Given the description of an element on the screen output the (x, y) to click on. 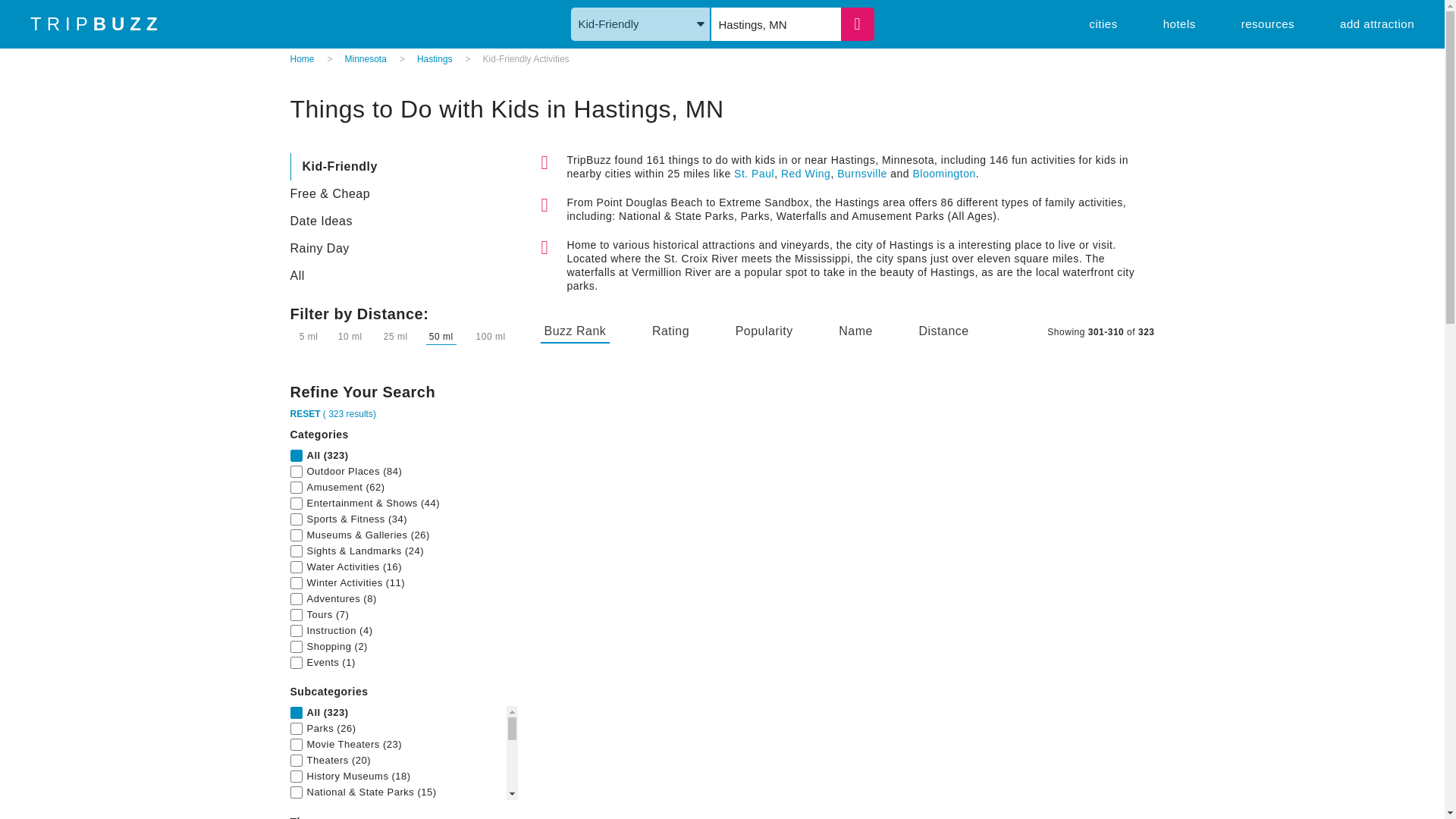
Hastings, MN (776, 23)
RESET (304, 413)
Name (855, 332)
Red Wing (804, 173)
Resources (1267, 23)
TRIPBUZZ (96, 24)
Hastings (434, 59)
resources (1267, 23)
Distance (943, 332)
add attraction (1376, 23)
